Given the description of an element on the screen output the (x, y) to click on. 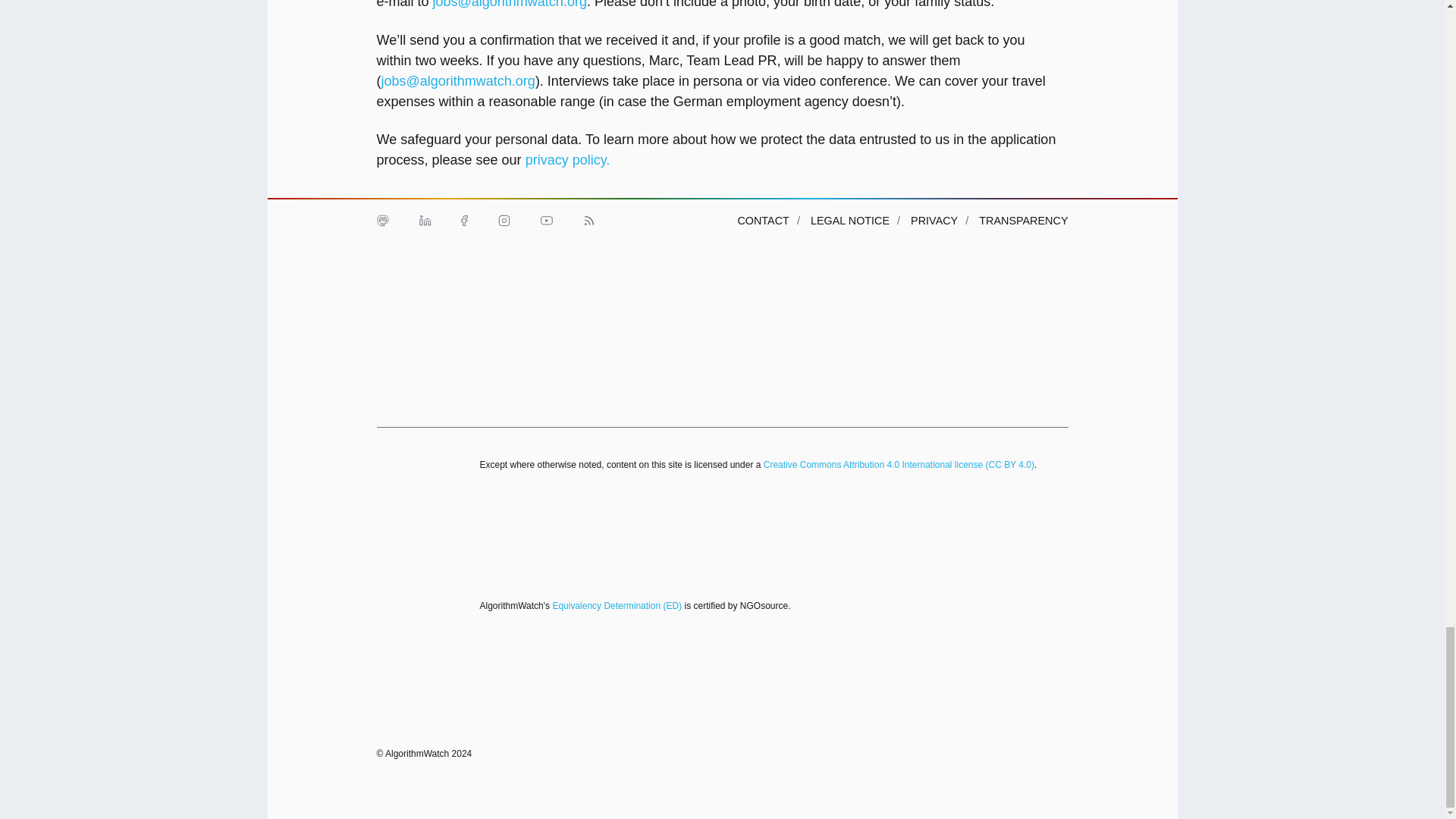
RSS Feed (588, 220)
Luminate (908, 288)
Youtube (545, 220)
Instagram (502, 220)
LinkedIn (424, 220)
European AI Fund (783, 288)
Mercator (1032, 288)
privacy policy. (567, 159)
Robert Bosch Stiftung (410, 380)
Alfred Landecker Foundation (410, 288)
Deutsche Postcode Lotterie (659, 288)
Civitates (535, 288)
